Given the description of an element on the screen output the (x, y) to click on. 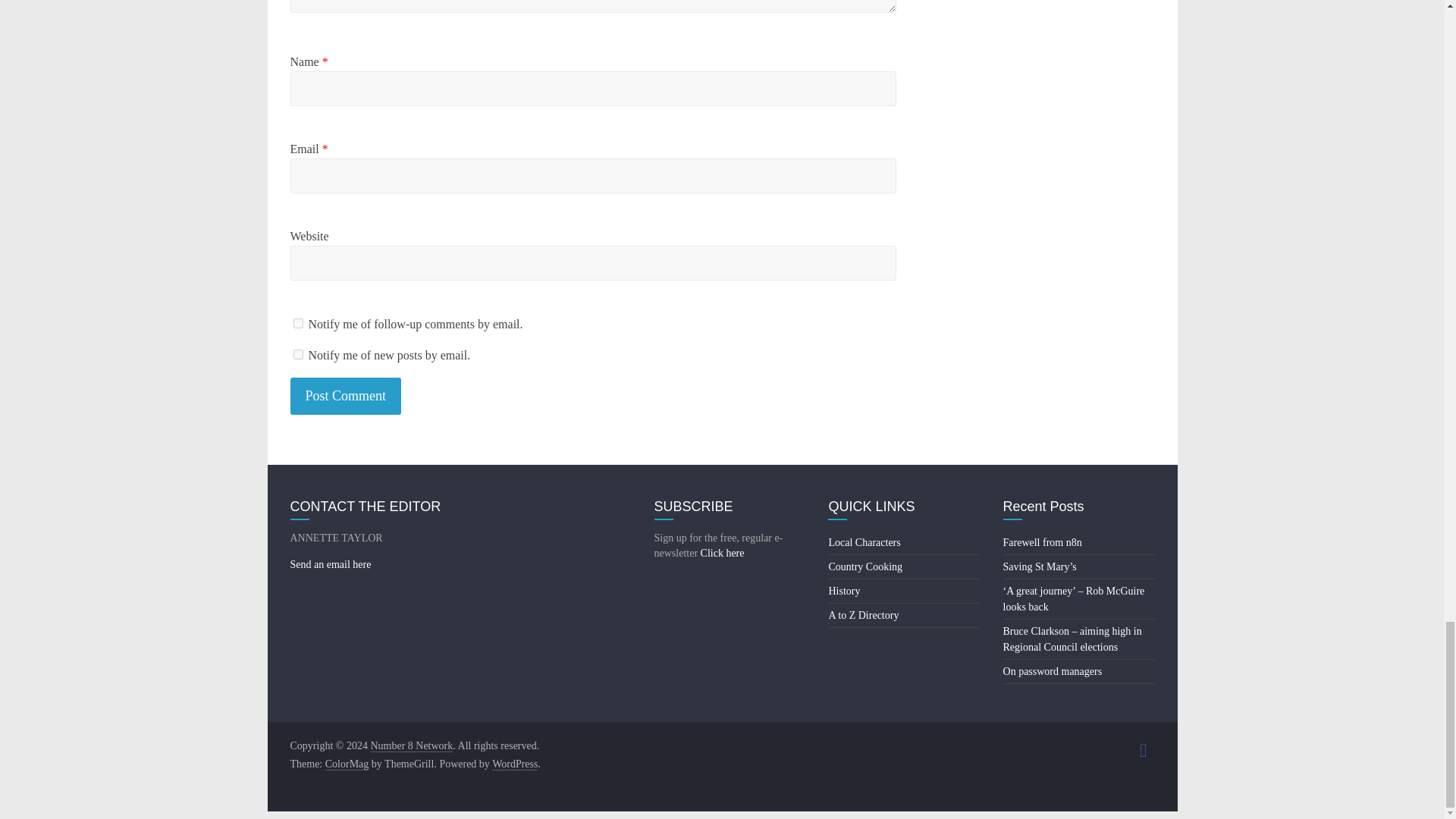
subscribe (297, 323)
Post Comment (345, 395)
subscribe (297, 354)
